Given the description of an element on the screen output the (x, y) to click on. 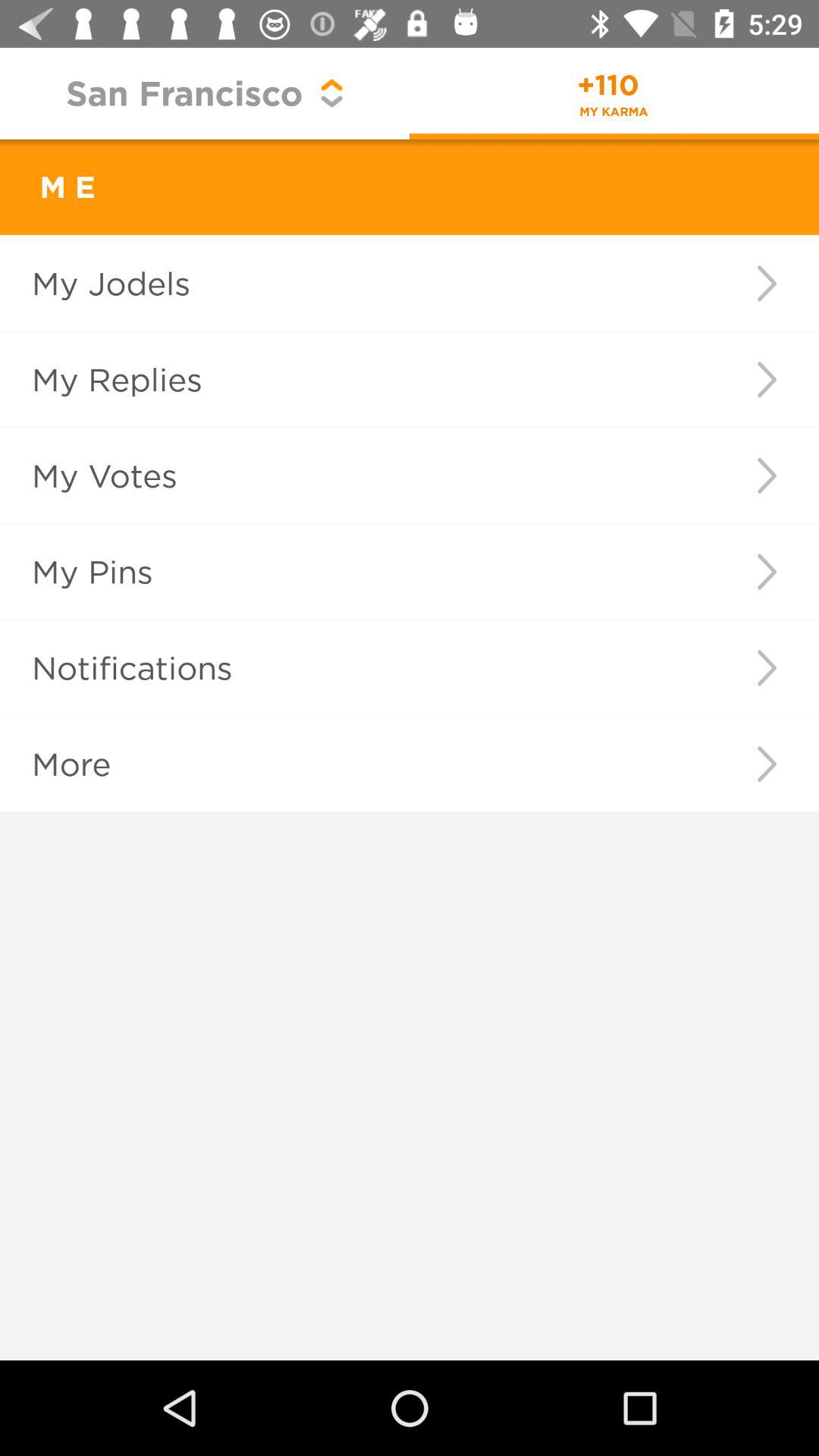
tap the item next to my jodels item (766, 283)
